Given the description of an element on the screen output the (x, y) to click on. 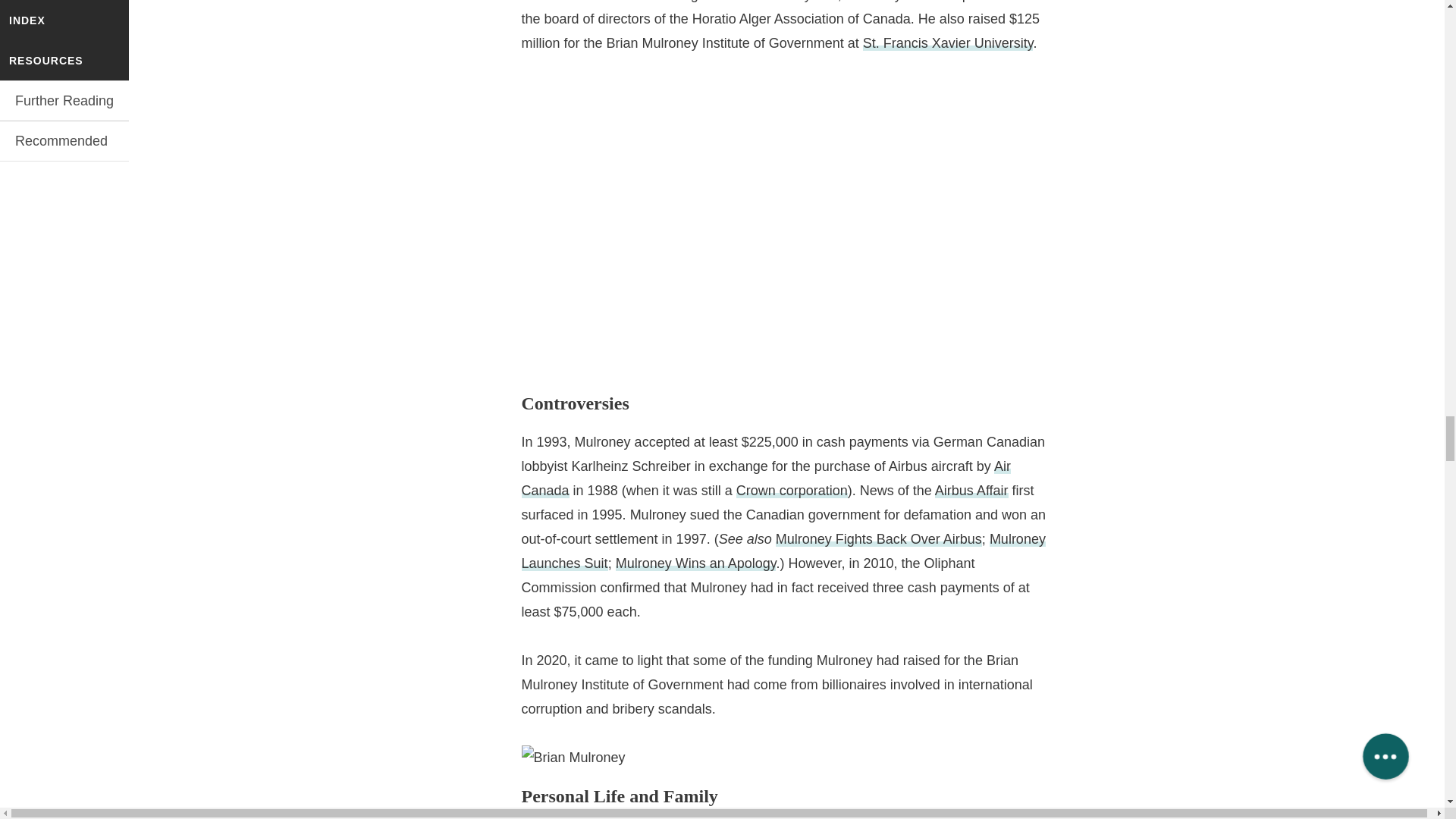
Brian Mulroney (573, 757)
